Given the description of an element on the screen output the (x, y) to click on. 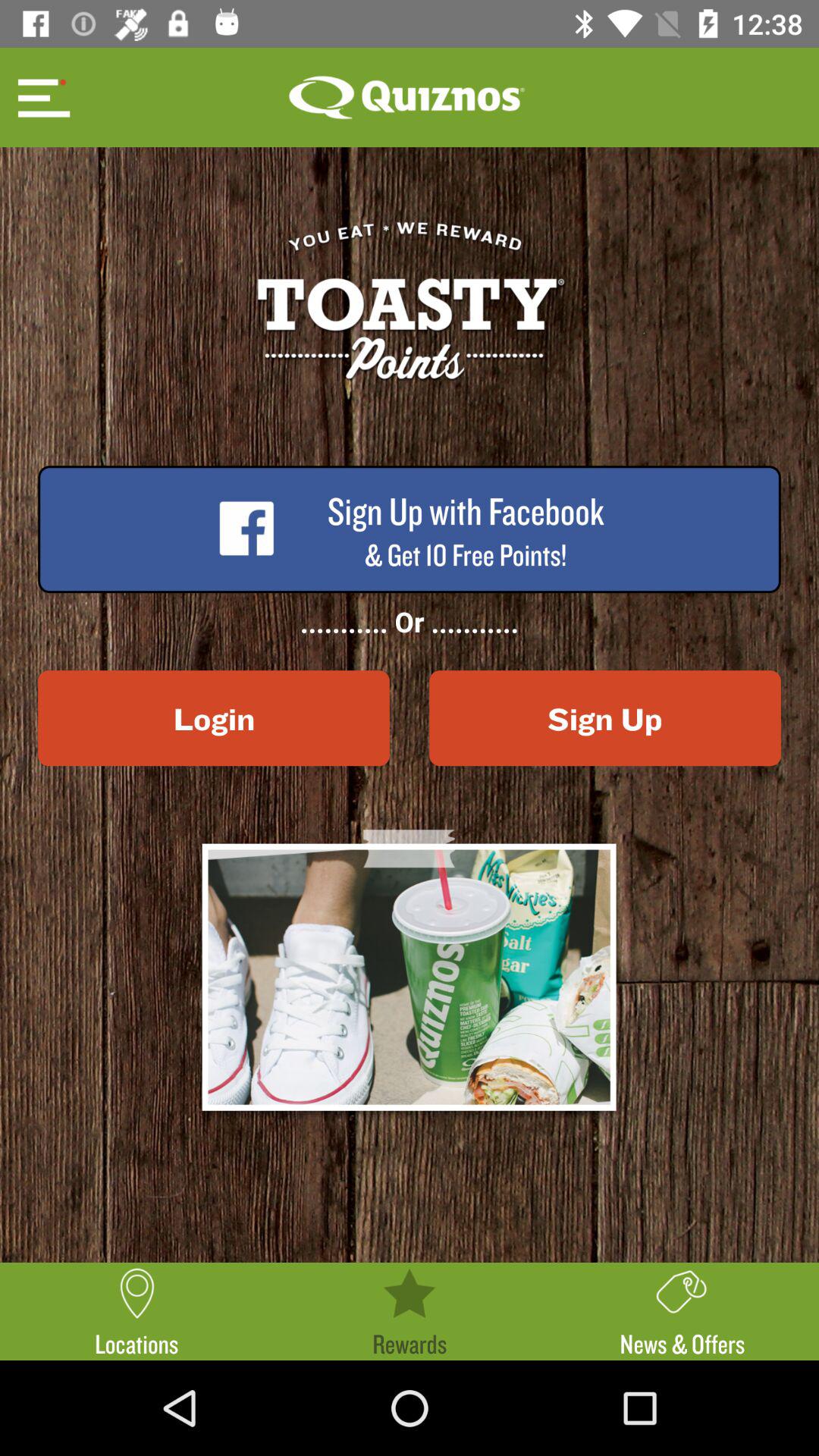
tap icon above login icon (41, 97)
